Given the description of an element on the screen output the (x, y) to click on. 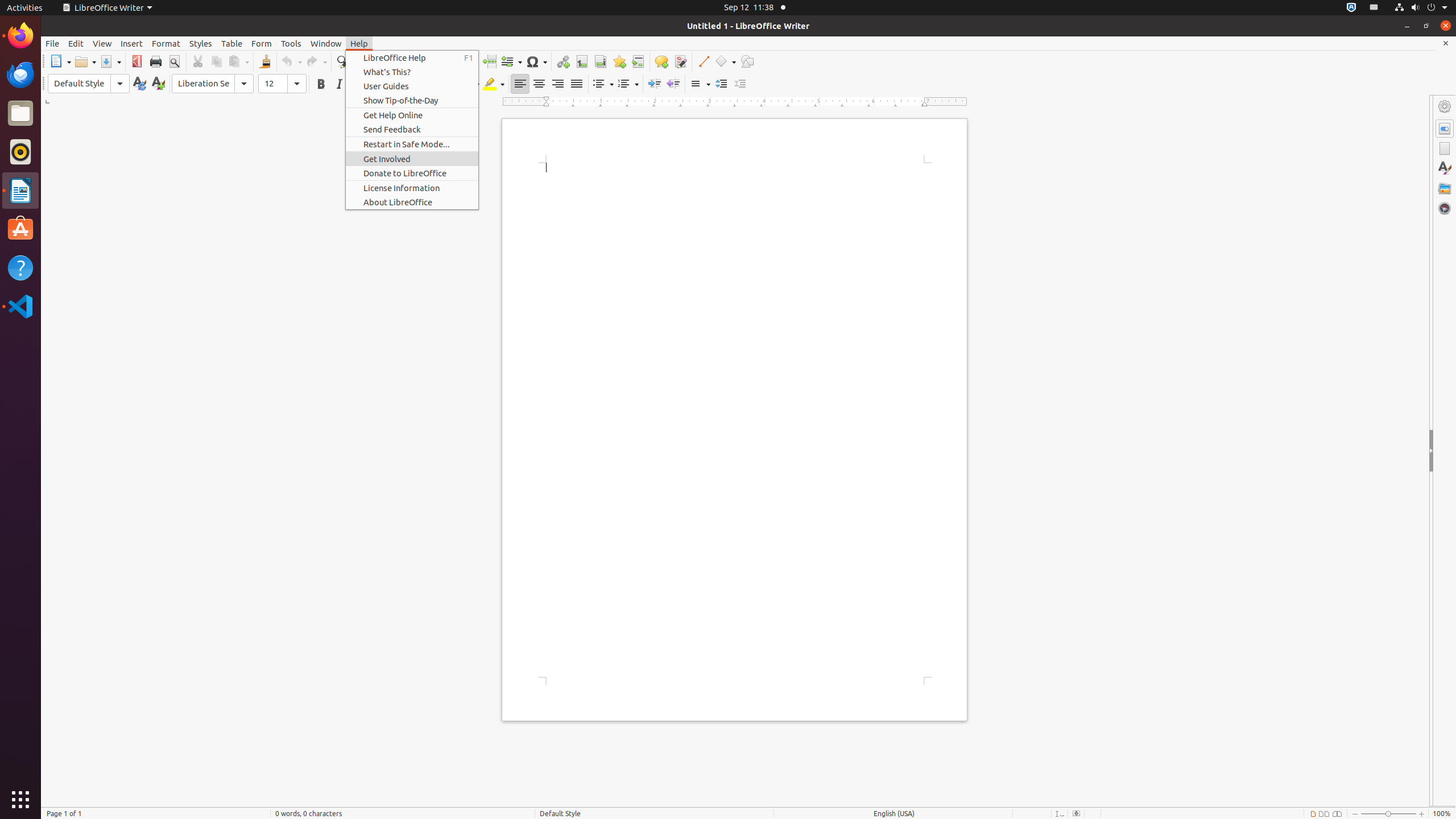
Styles Element type: menu (200, 43)
Rhythmbox Element type: push-button (20, 151)
Window Element type: menu (325, 43)
Styles Element type: radio-button (1444, 168)
Line Element type: toggle-button (702, 61)
